Given the description of an element on the screen output the (x, y) to click on. 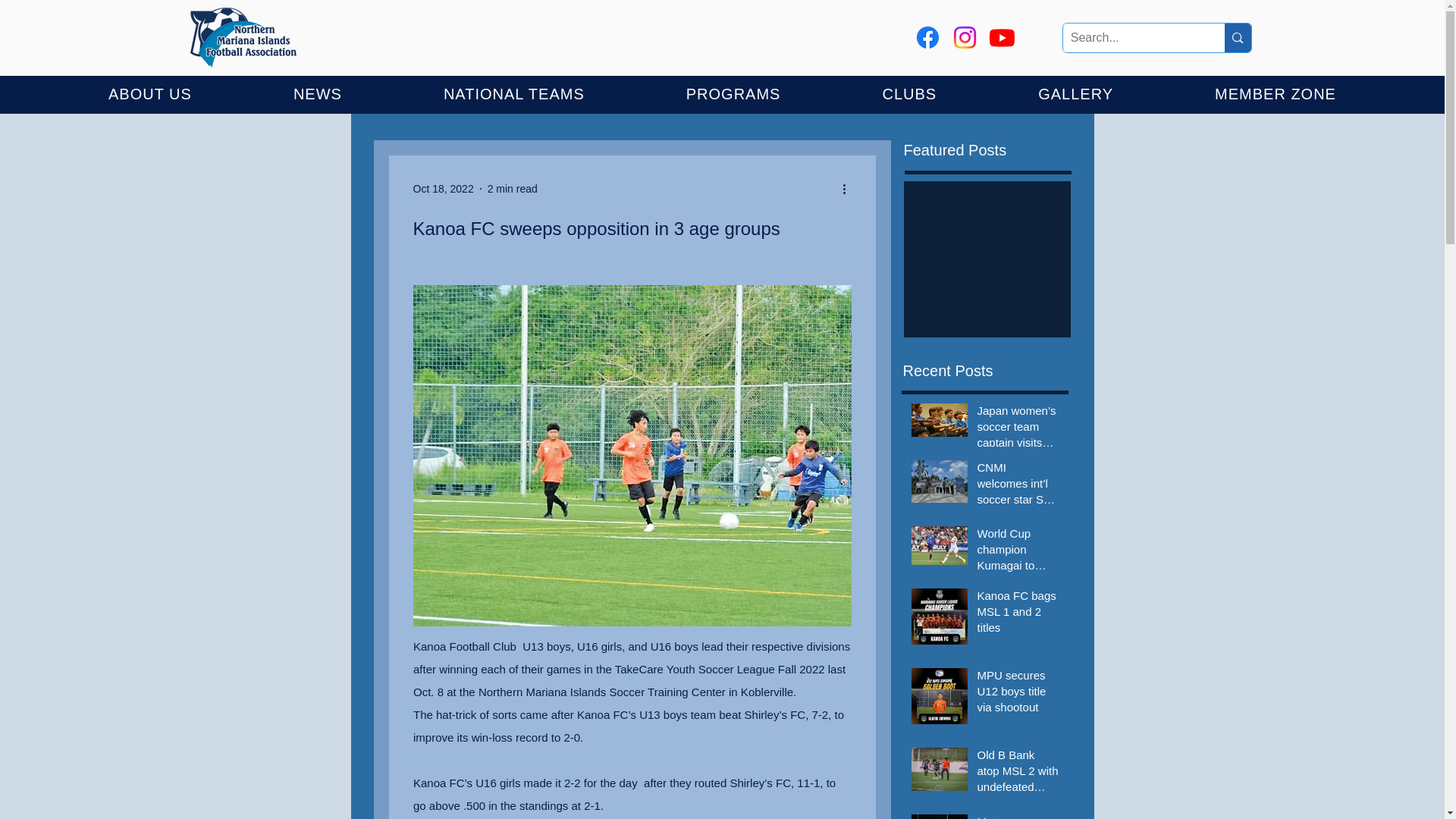
CLUBS (909, 93)
Oct 18, 2022 (442, 187)
NEWS (318, 93)
MEMBER ZONE (1275, 93)
GALLERY (1075, 93)
2 min read (512, 187)
